Given the description of an element on the screen output the (x, y) to click on. 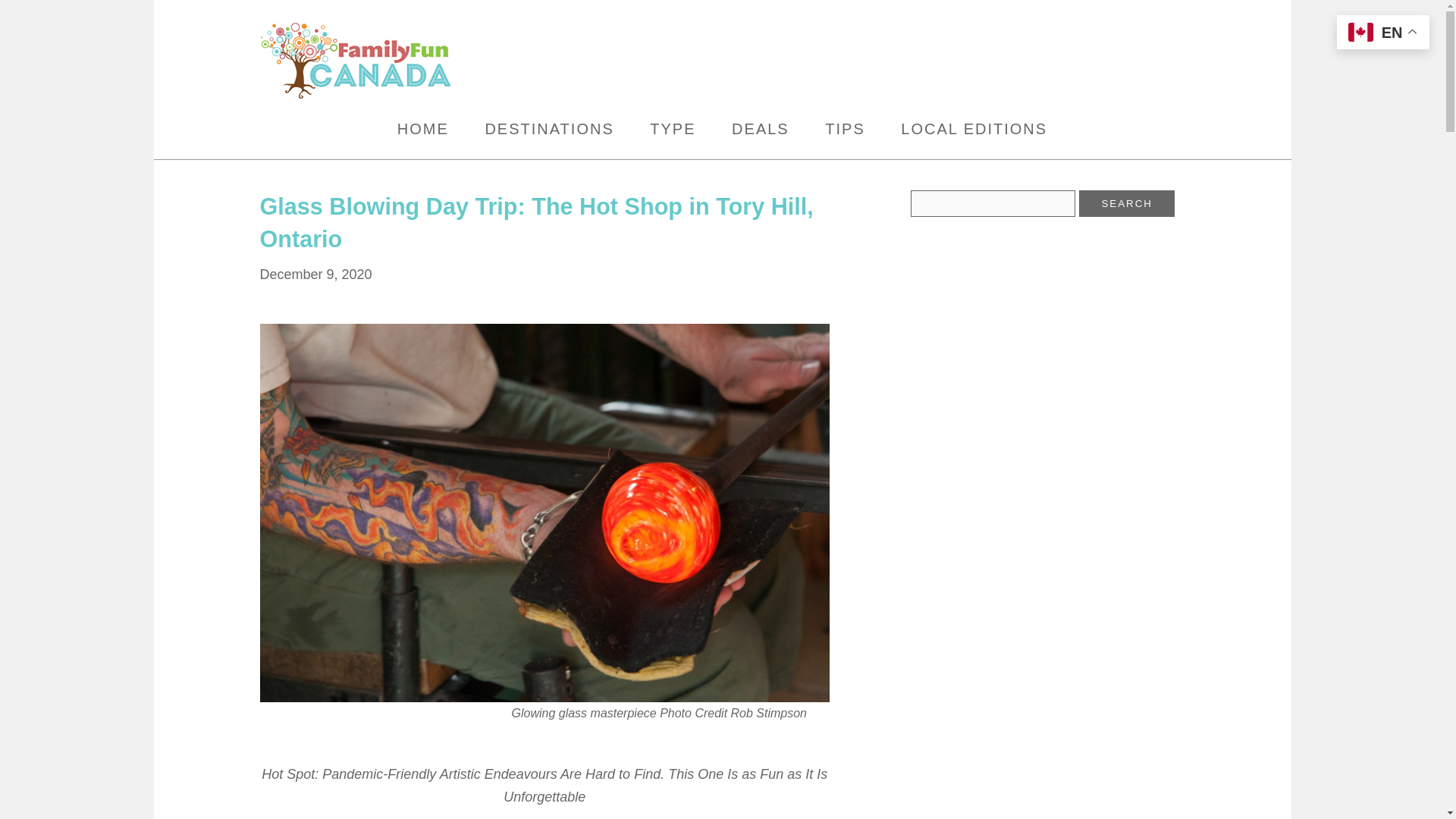
Advertisement (1024, 744)
DESTINATIONS (548, 128)
Advertisement (1024, 553)
Search (1126, 203)
HOME (422, 128)
Advertisement (1024, 341)
Advertisement (890, 56)
Back Home (425, 60)
